Given the description of an element on the screen output the (x, y) to click on. 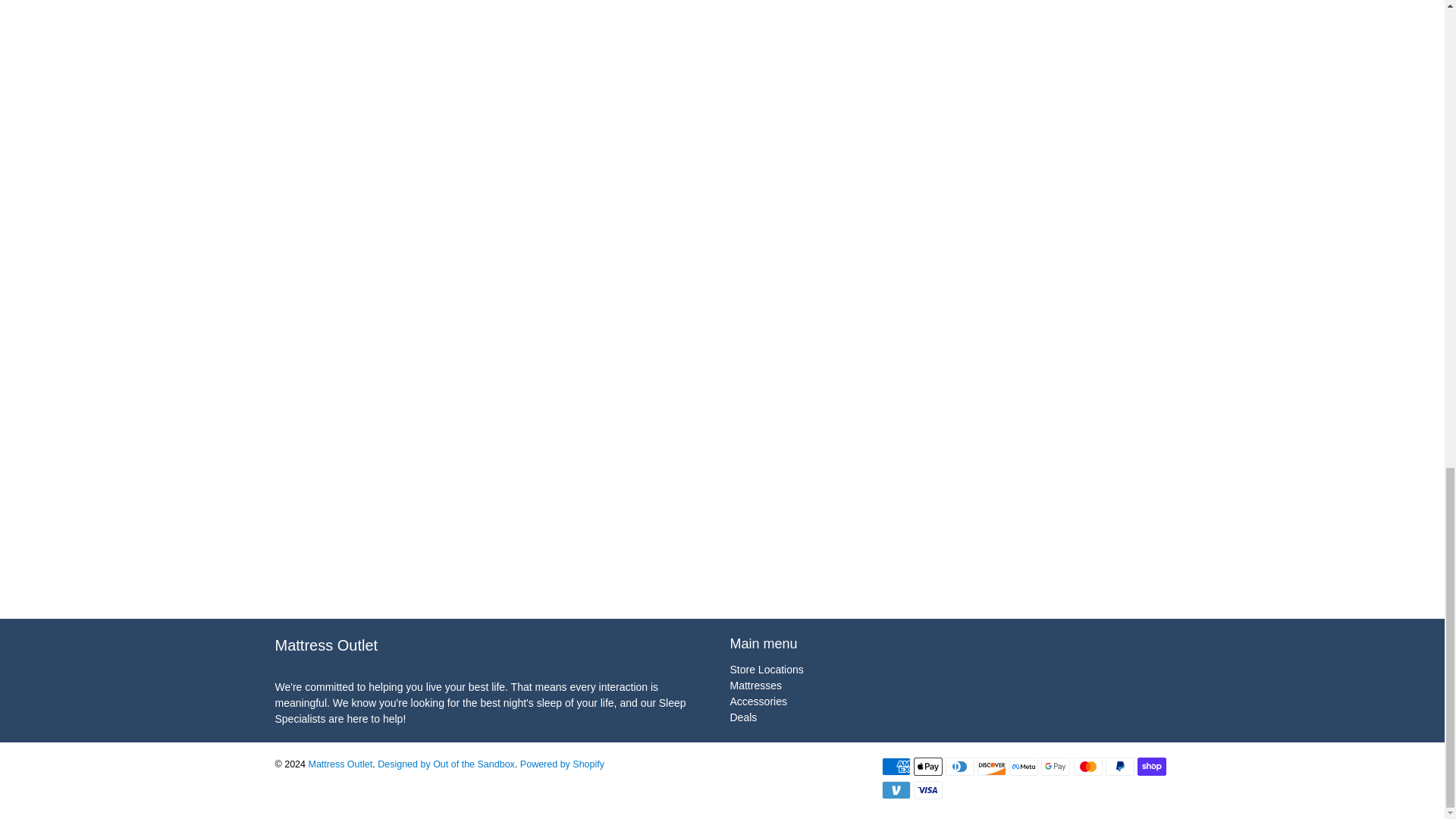
Diners Club (959, 766)
Flex Shopify Theme by Out of the Sandbox (446, 764)
Google Pay (1055, 766)
Mattress Outlet (406, 656)
Visa (928, 790)
Mastercard (1088, 766)
Shop Pay (1151, 766)
PayPal (1119, 766)
Venmo (895, 790)
Meta Pay (1023, 766)
Apple Pay (928, 766)
Discover (991, 766)
American Express (895, 766)
